Given the description of an element on the screen output the (x, y) to click on. 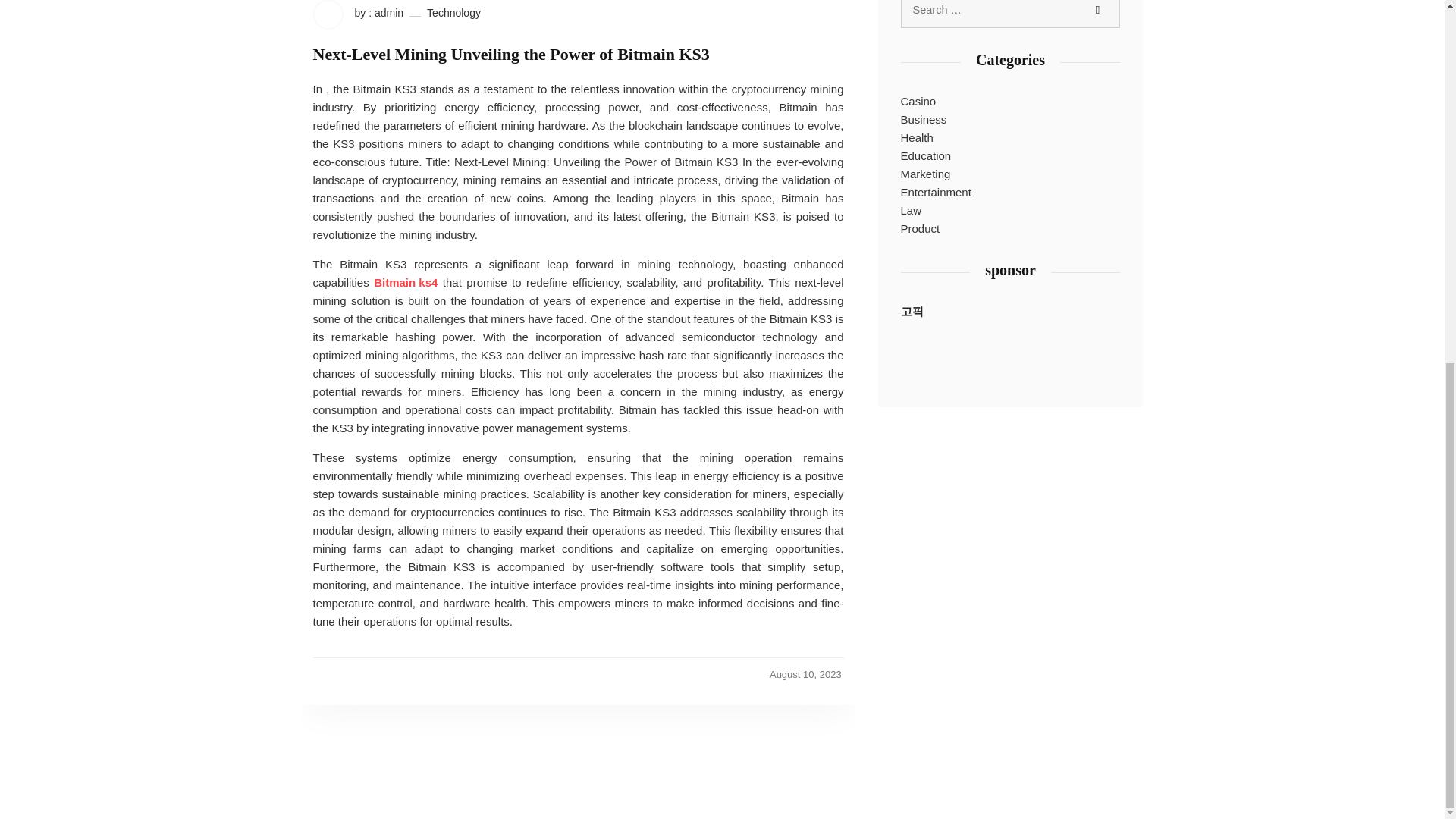
Health (917, 137)
Search (1096, 12)
by : admin (358, 14)
Technology (453, 12)
Education (926, 156)
Next-Level Mining Unveiling the Power of Bitmain KS3 (511, 54)
Law (911, 210)
August 10, 2023 (805, 674)
Marketing (925, 174)
Casino (918, 101)
Product (920, 229)
Bitmain ks4 (406, 282)
Business (924, 119)
Entertainment (936, 192)
